Given the description of an element on the screen output the (x, y) to click on. 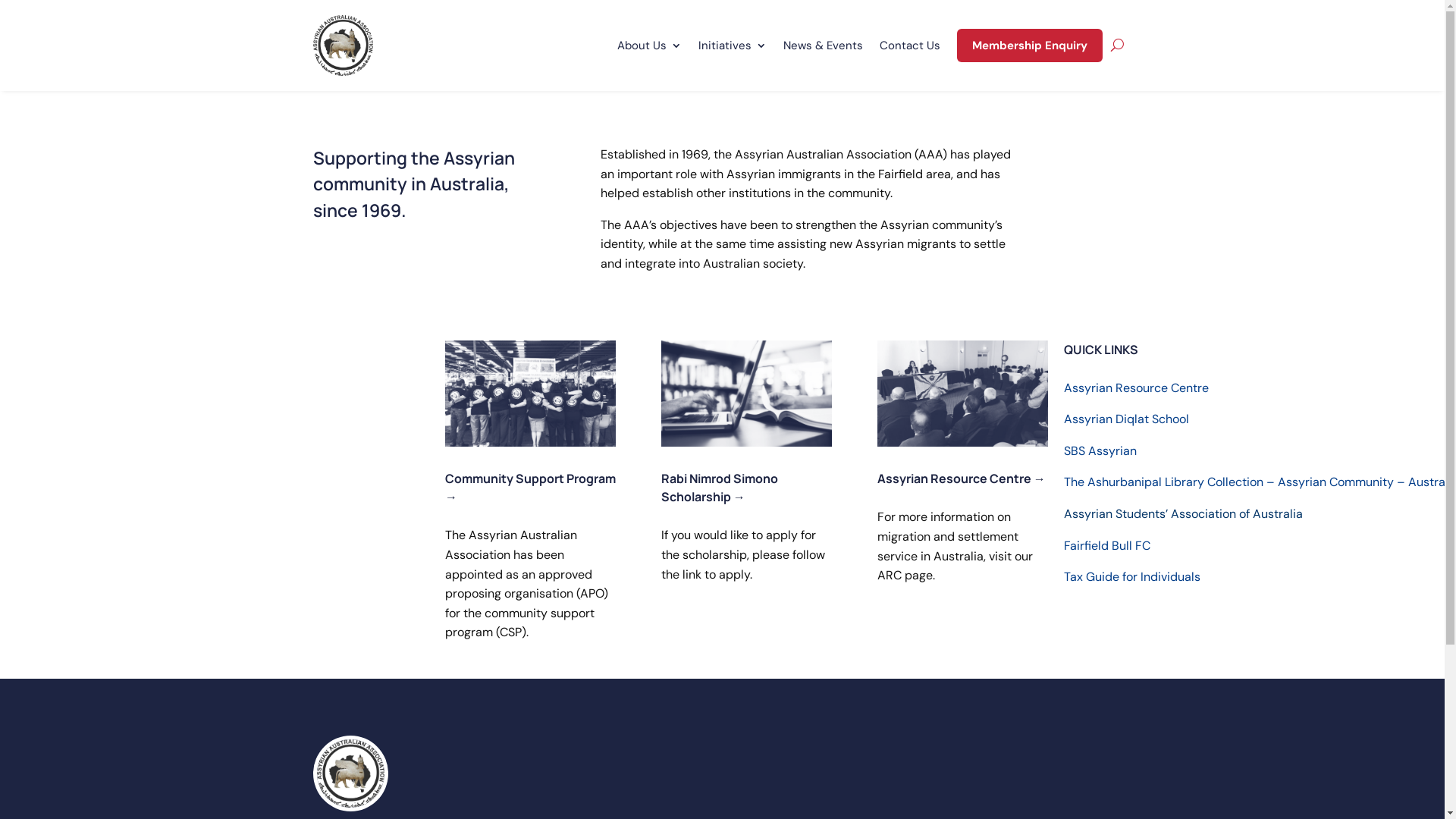
Initiatives Element type: text (731, 45)
logo-v2 Element type: hover (350, 773)
Fairfield Bull FC Element type: text (1106, 545)
Assyrian Diqlat School Element type: text (1126, 418)
News & Events Element type: text (822, 45)
Membership Enquiry Element type: text (1029, 45)
About Us Element type: text (649, 45)
SBS Assyrian Element type: text (1099, 450)
Contact Us Element type: text (909, 45)
Tax Guide for Individuals Element type: text (1131, 576)
Assyrian Resource Centre Element type: text (1135, 387)
